Given the description of an element on the screen output the (x, y) to click on. 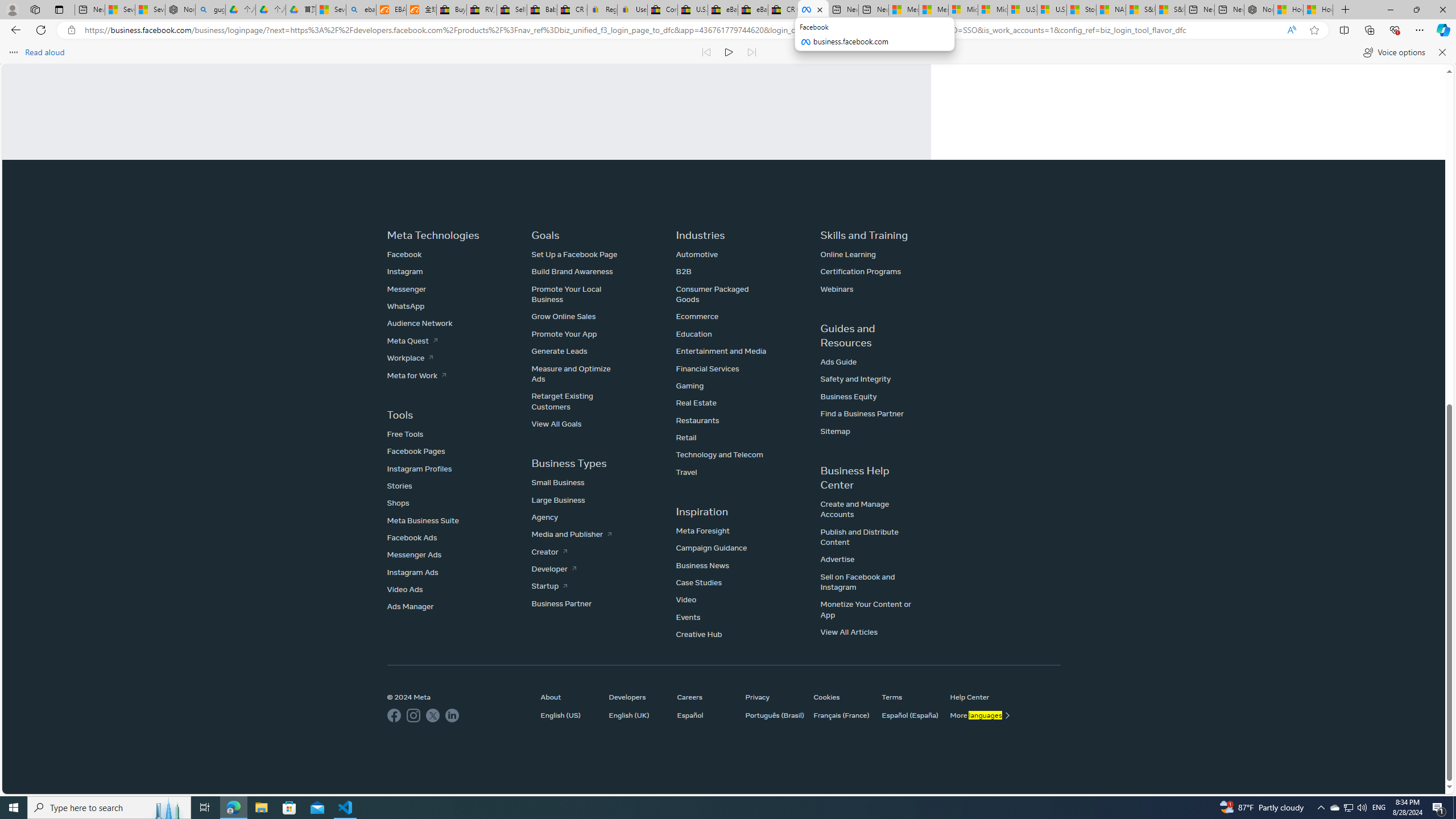
Retarget Existing Customers (562, 401)
Instagram Ads (412, 571)
Grow Online Sales (563, 316)
Privacy (773, 696)
Instagram Profiles (419, 468)
Facebook Pages (416, 451)
Monetize Your Content or App (865, 609)
Promote Your App (563, 333)
Consumer Health Data Privacy Policy - eBay Inc. (662, 9)
Publish and Distribute Content (858, 536)
Creative Hub (698, 634)
Real Estate (695, 402)
